Given the description of an element on the screen output the (x, y) to click on. 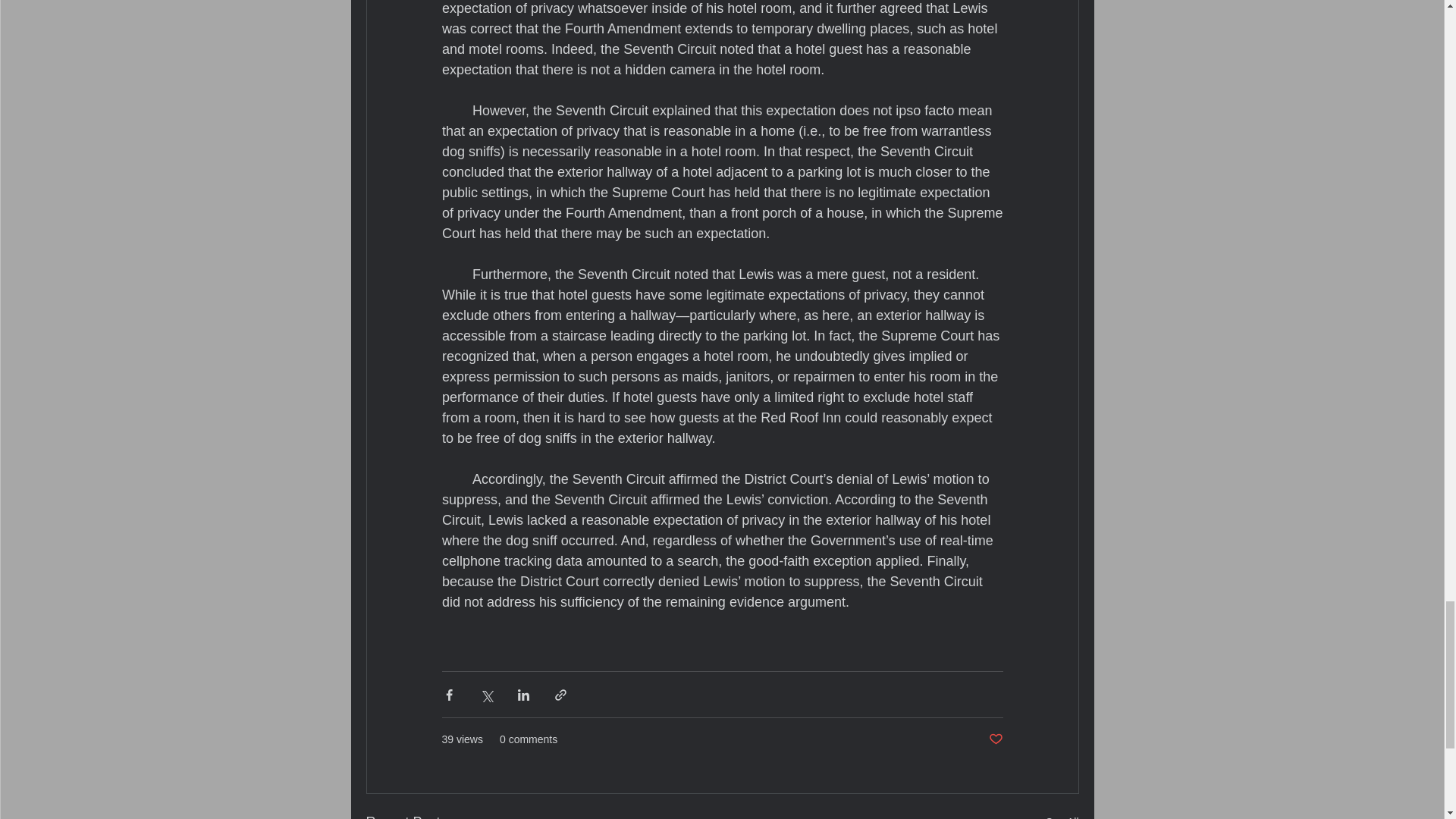
Post not marked as liked (995, 739)
See All (1061, 815)
